Given the description of an element on the screen output the (x, y) to click on. 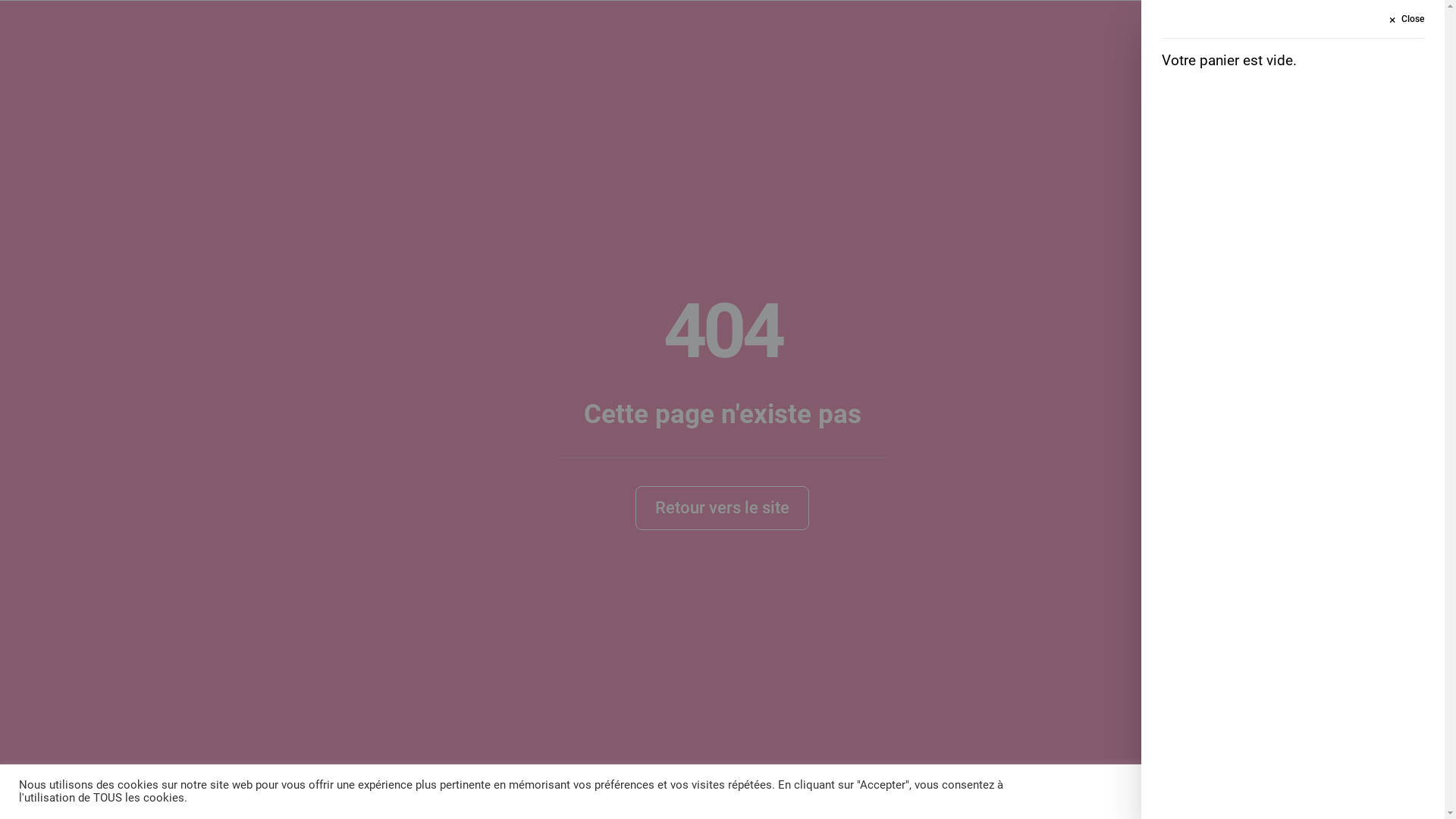
ACCEPTER Element type: text (1392, 791)
Cookie settings Element type: text (1308, 791)
Retour vers le site Element type: text (722, 508)
